Given the description of an element on the screen output the (x, y) to click on. 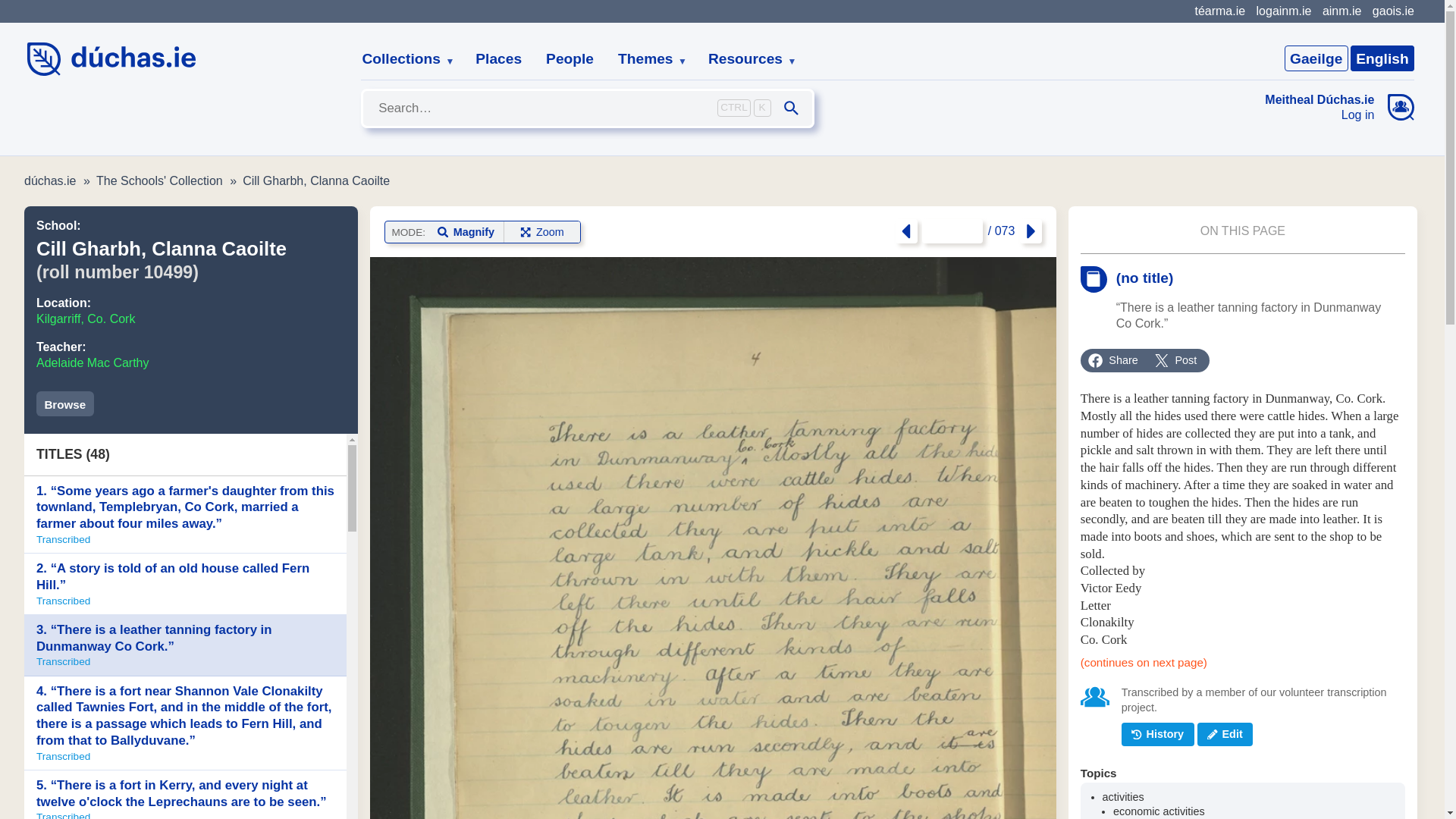
Gaeilge (1316, 58)
gaois.ie (1393, 11)
Themes (646, 59)
Log in (1319, 114)
logainm.ie (1283, 11)
Adelaide Mac Carthy (92, 362)
Collections (401, 59)
Resources (745, 59)
English (1382, 58)
Kilgarriff, Co. Cork (85, 318)
